Given the description of an element on the screen output the (x, y) to click on. 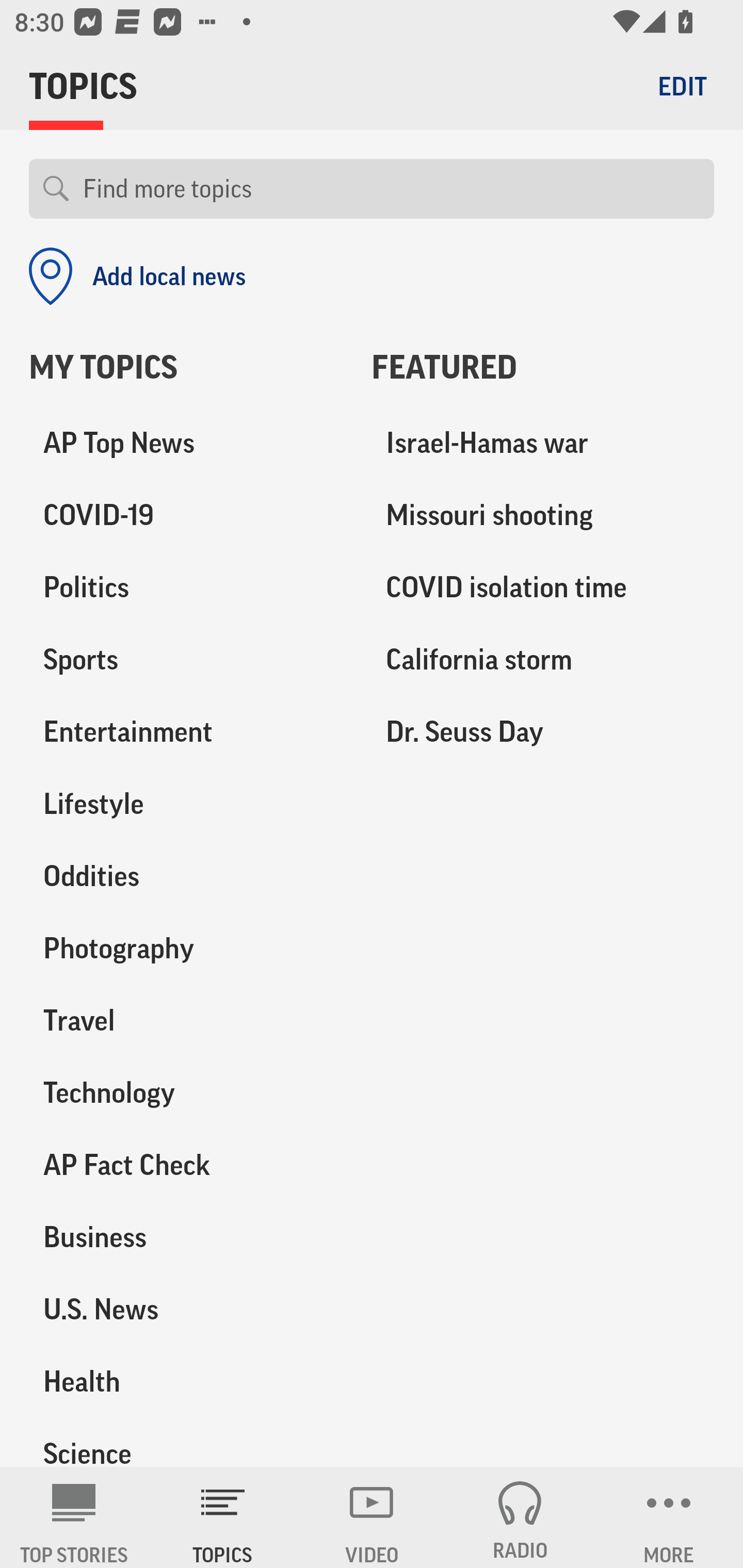
EDIT (682, 86)
Find more topics (391, 188)
Add local news (137, 276)
AP Top News (185, 443)
Israel-Hamas war (542, 443)
COVID-19 (185, 515)
Missouri shooting (542, 515)
Politics (185, 587)
COVID isolation time (542, 587)
Sports (185, 660)
California storm (542, 660)
Entertainment (185, 732)
Dr. Seuss Day (542, 732)
Lifestyle (185, 804)
Oddities (185, 876)
Photography (185, 948)
Travel (185, 1020)
Technology (185, 1092)
AP Fact Check (185, 1164)
Business (185, 1237)
U.S. News (185, 1309)
Health (185, 1381)
Science (185, 1442)
AP News TOP STORIES (74, 1517)
TOPICS (222, 1517)
VIDEO (371, 1517)
RADIO (519, 1517)
MORE (668, 1517)
